Given the description of an element on the screen output the (x, y) to click on. 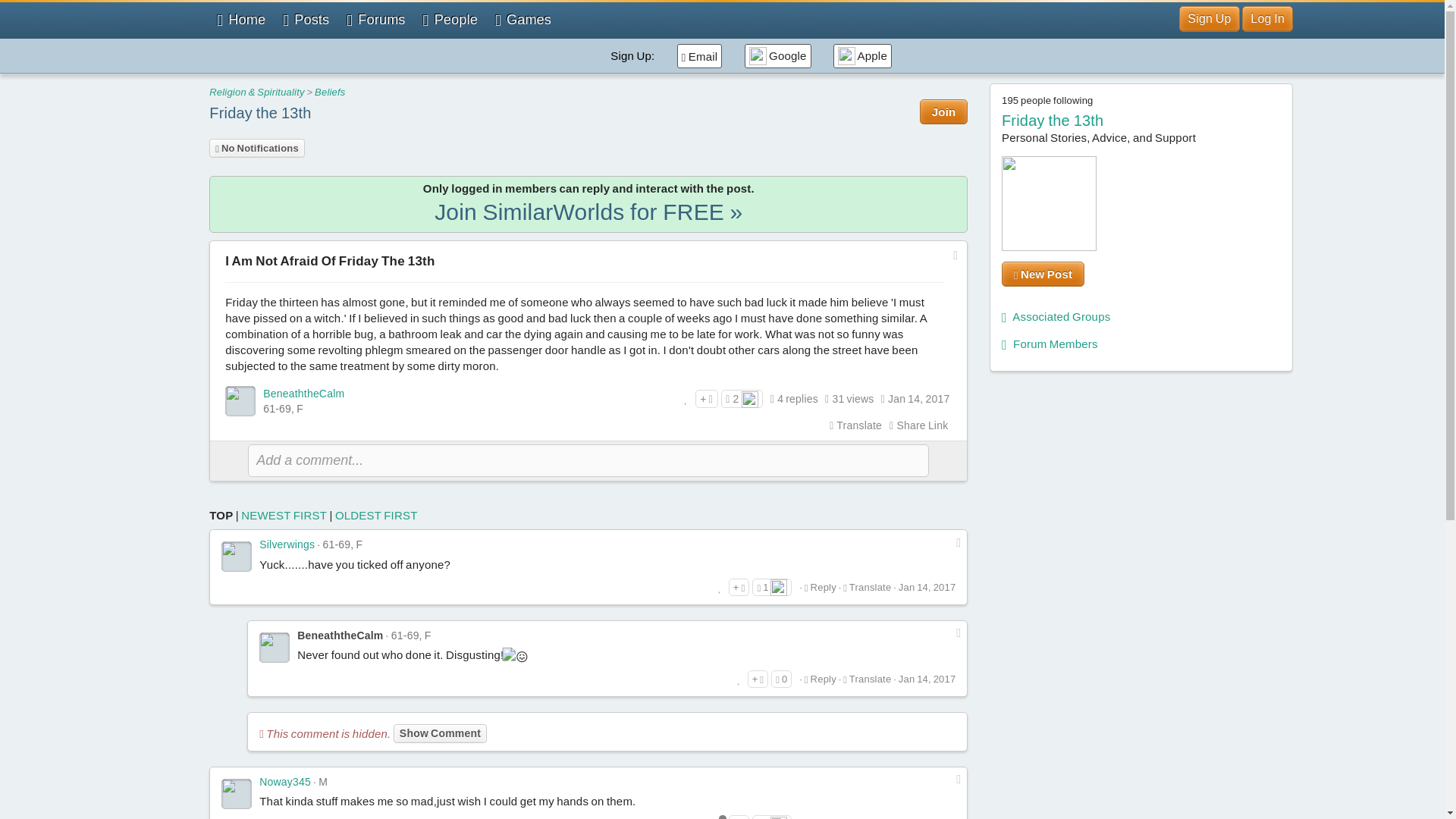
2 (741, 398)
Friday the 13th (260, 112)
January 14, 2017 at 05:12 (918, 398)
1 (772, 587)
Jan 14, 2017 (918, 398)
Posts (305, 19)
Translate (855, 425)
Heart (749, 399)
Games (523, 19)
Jan 14, 2017 (927, 586)
People (449, 19)
Share Link (918, 425)
Forums (375, 19)
Log In (1266, 18)
No Notifications (256, 148)
